Given the description of an element on the screen output the (x, y) to click on. 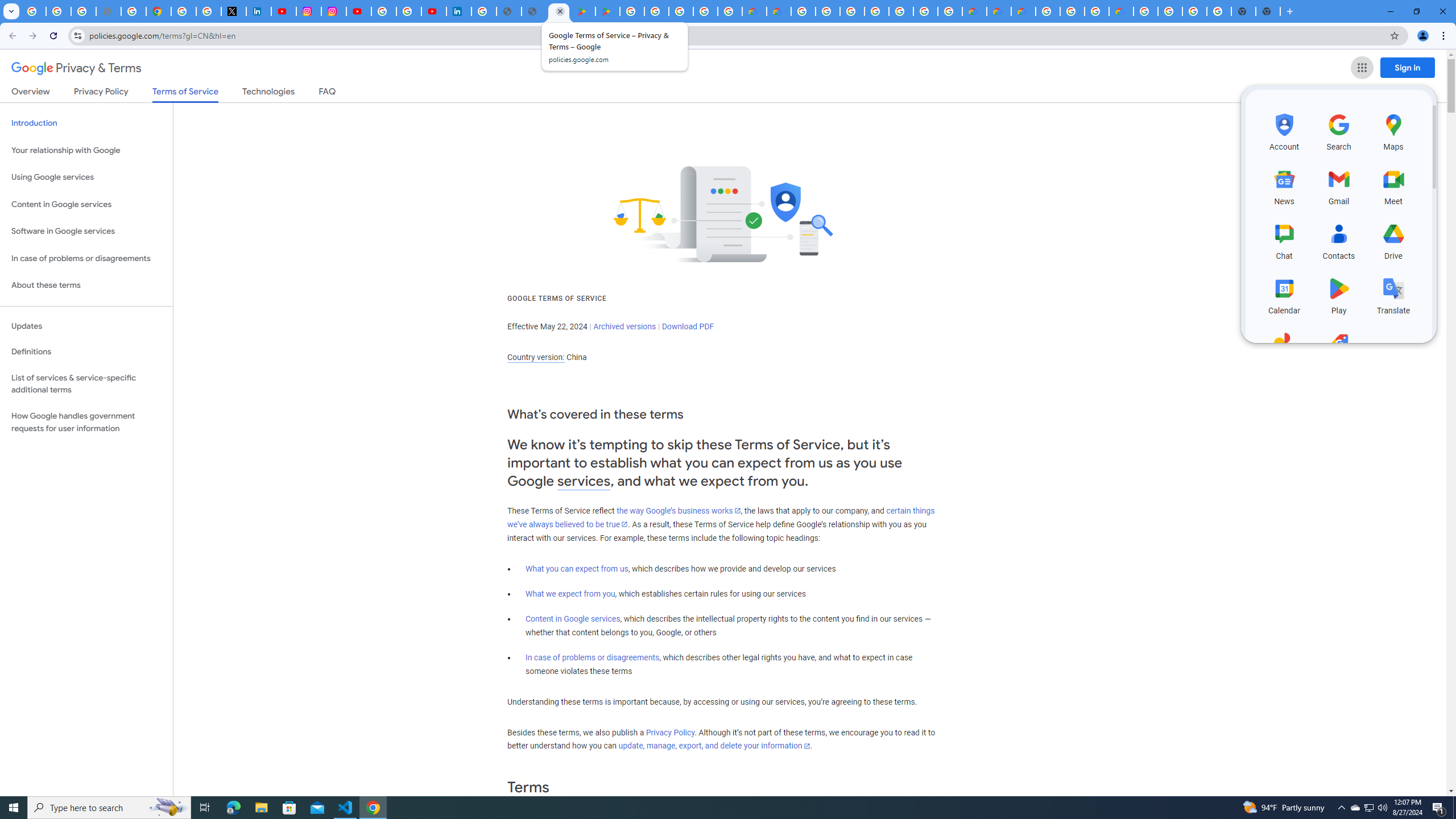
Google Cloud Platform (1047, 11)
Customer Care | Google Cloud (973, 11)
Reload (52, 35)
Your relationship with Google (86, 150)
PAW Patrol Rescue World - Apps on Google Play (606, 11)
Sign in - Google Accounts (851, 11)
Sign in - Google Accounts (182, 11)
Bookmark this tab (1393, 35)
Forward (32, 35)
